Given the description of an element on the screen output the (x, y) to click on. 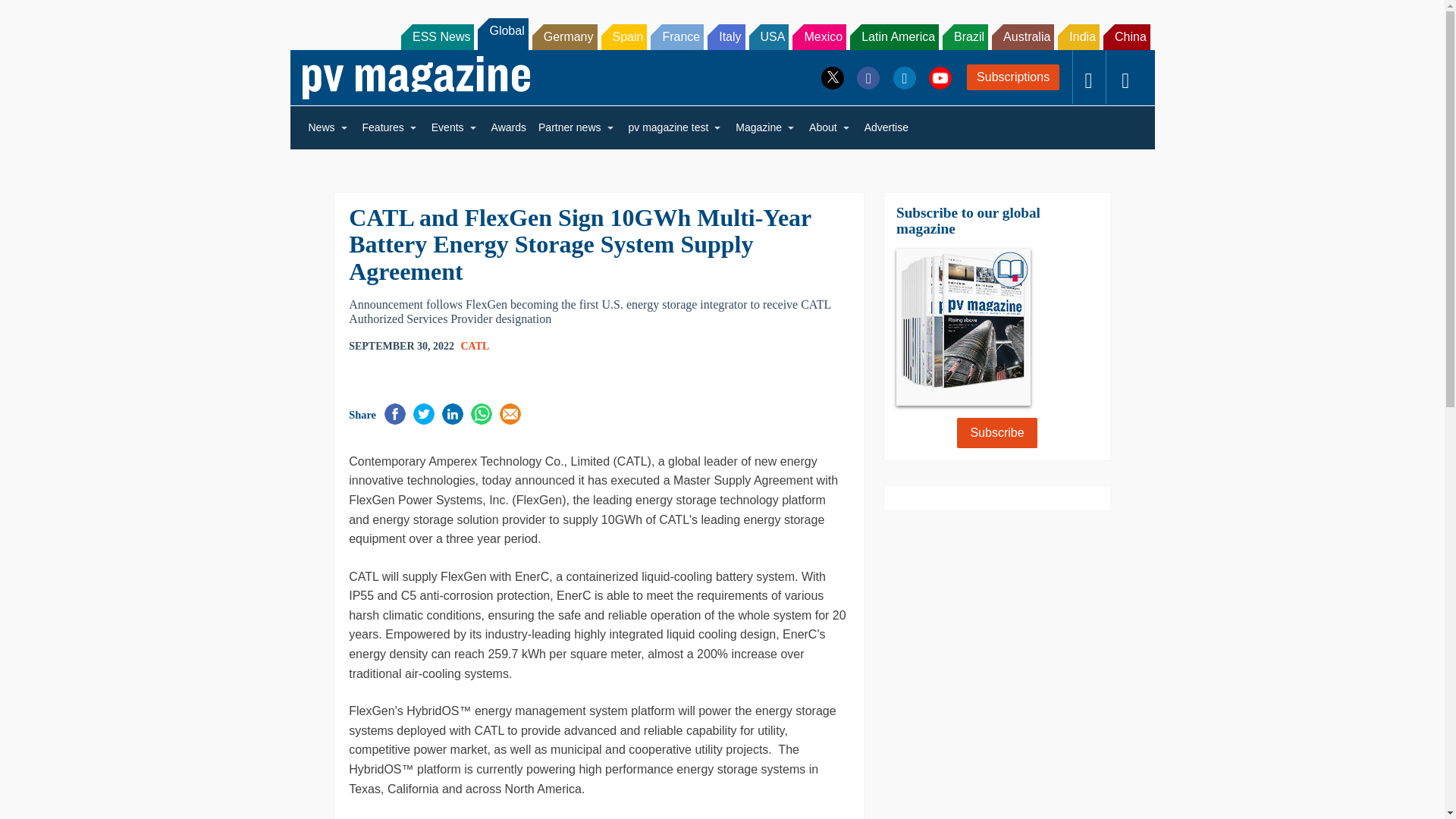
Latin America (894, 36)
Australia (1022, 36)
pv magazine - Photovoltaics Markets and Technology (415, 77)
Italy (725, 36)
Spain (622, 36)
Subscriptions (1012, 77)
USA (769, 36)
Friday, September 30, 2022, 9:31 am (401, 346)
Mexico (818, 36)
India (1078, 36)
